Given the description of an element on the screen output the (x, y) to click on. 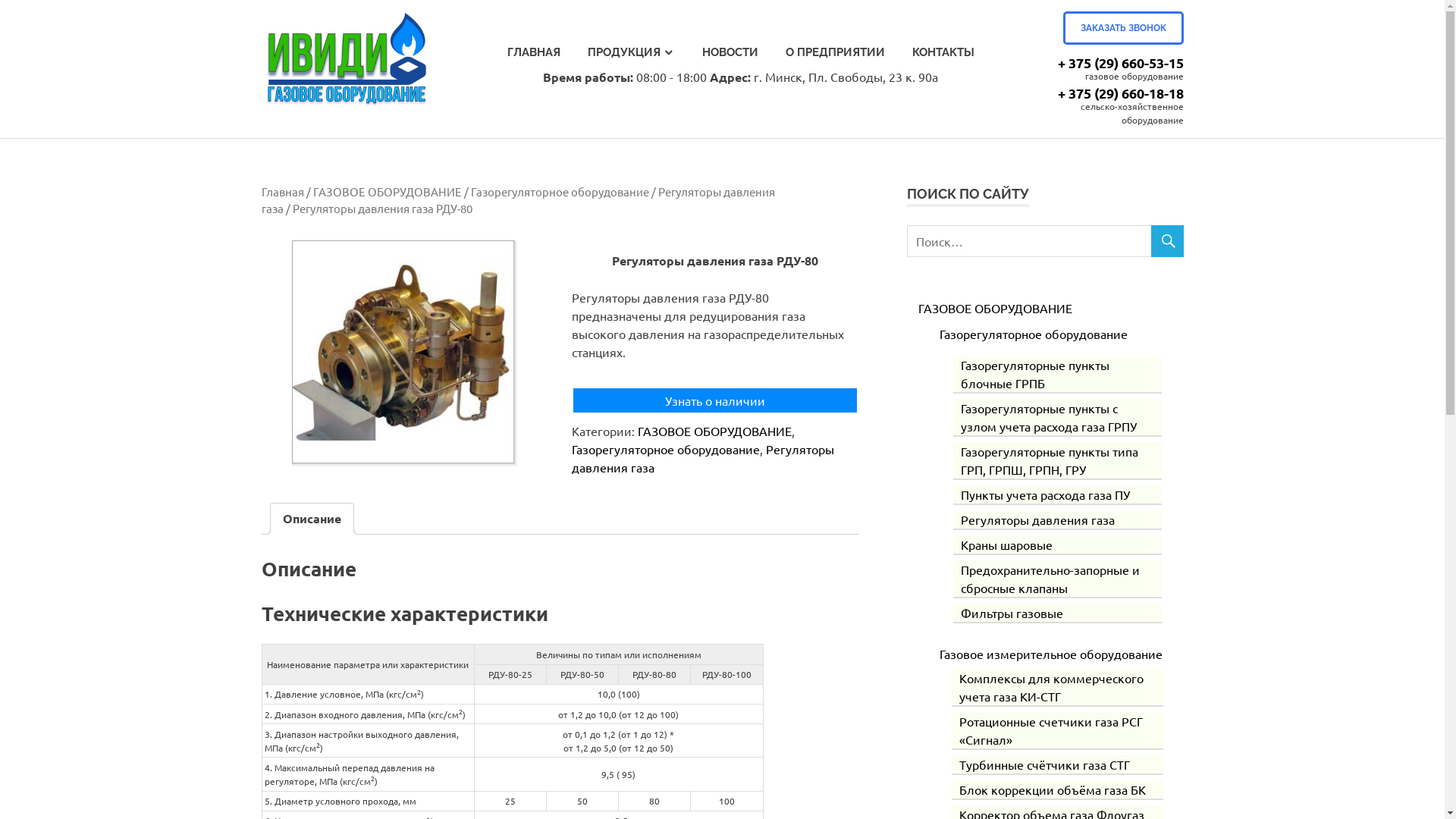
+ 375 (29) 660-18-18 Element type: text (1120, 92)
+ 375 (29) 660-53-15 Element type: text (1120, 62)
